Given the description of an element on the screen output the (x, y) to click on. 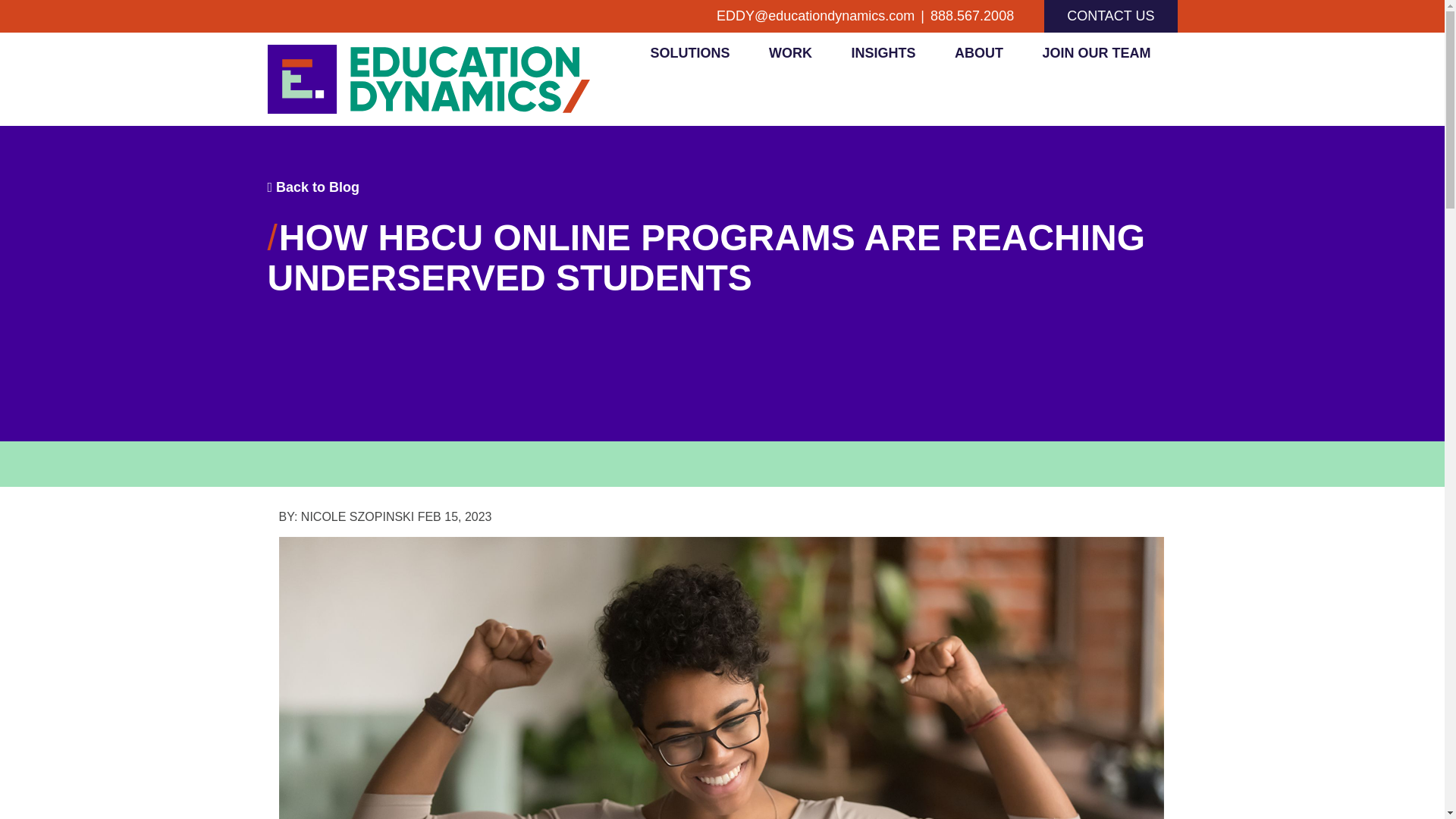
Contact Us (1109, 16)
Solutions (690, 57)
CONTACT US (1109, 16)
SOLUTIONS (690, 57)
888.567.2008 (971, 16)
